Given the description of an element on the screen output the (x, y) to click on. 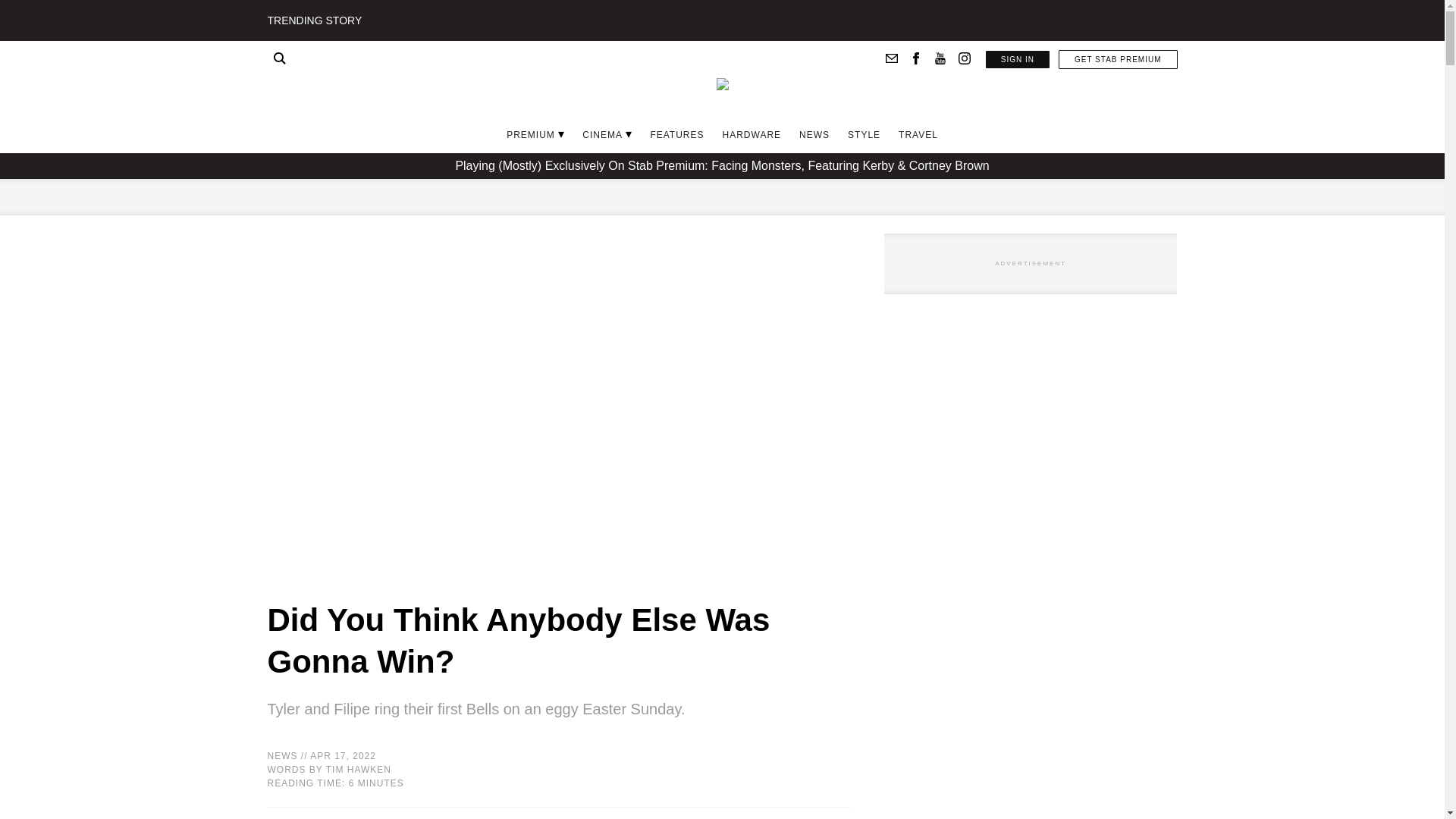
GET STAB PREMIUM (1117, 58)
CINEMA (602, 134)
PREMIUM (530, 134)
SIGN IN (1017, 58)
